Given the description of an element on the screen output the (x, y) to click on. 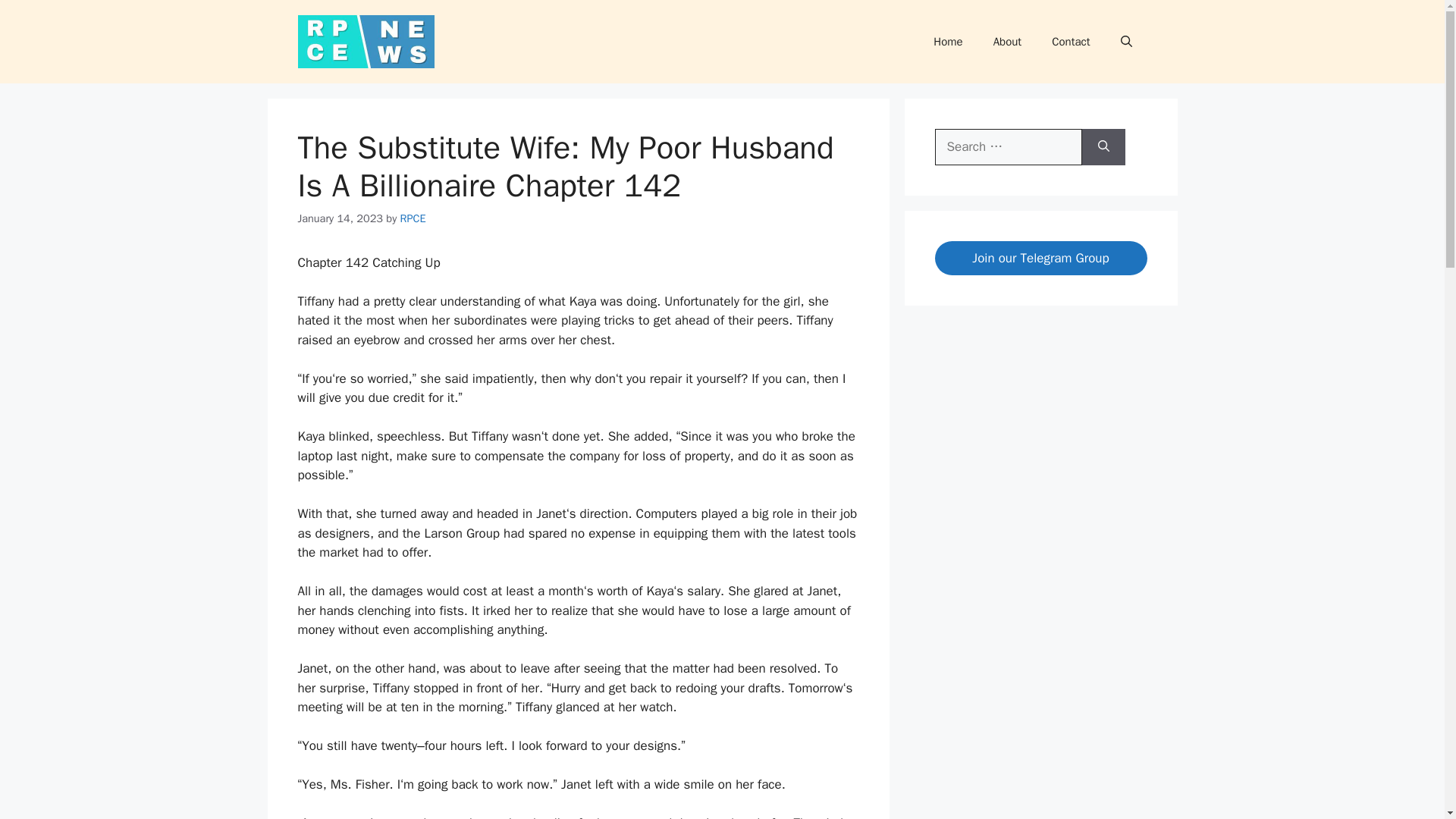
Join our Telegram Group (1040, 258)
RPCE (413, 218)
Search for: (1007, 146)
Home (947, 41)
Contact (1070, 41)
View all posts by RPCE (413, 218)
About (1007, 41)
